Given the description of an element on the screen output the (x, y) to click on. 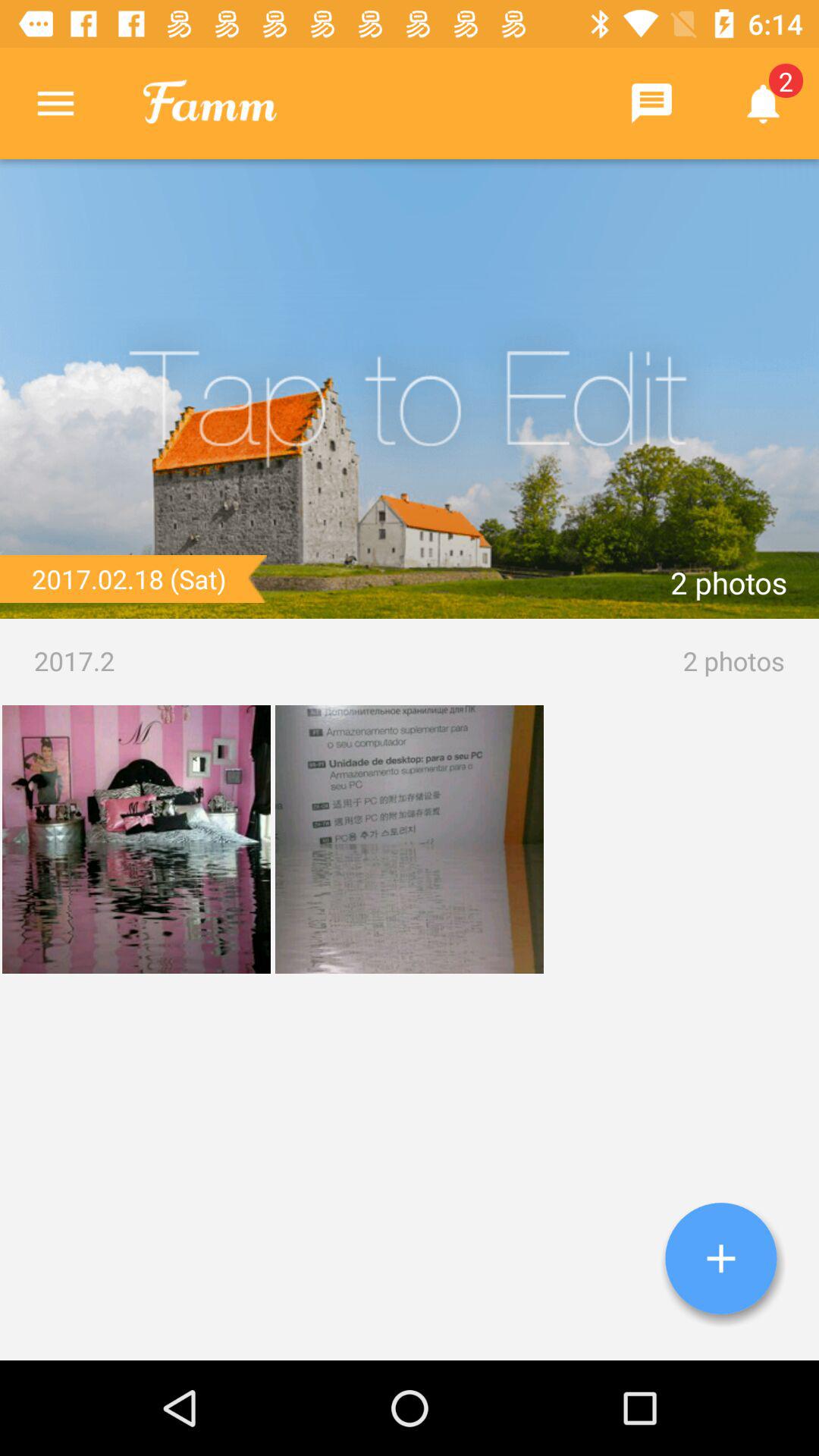
add more photos (721, 1258)
